Given the description of an element on the screen output the (x, y) to click on. 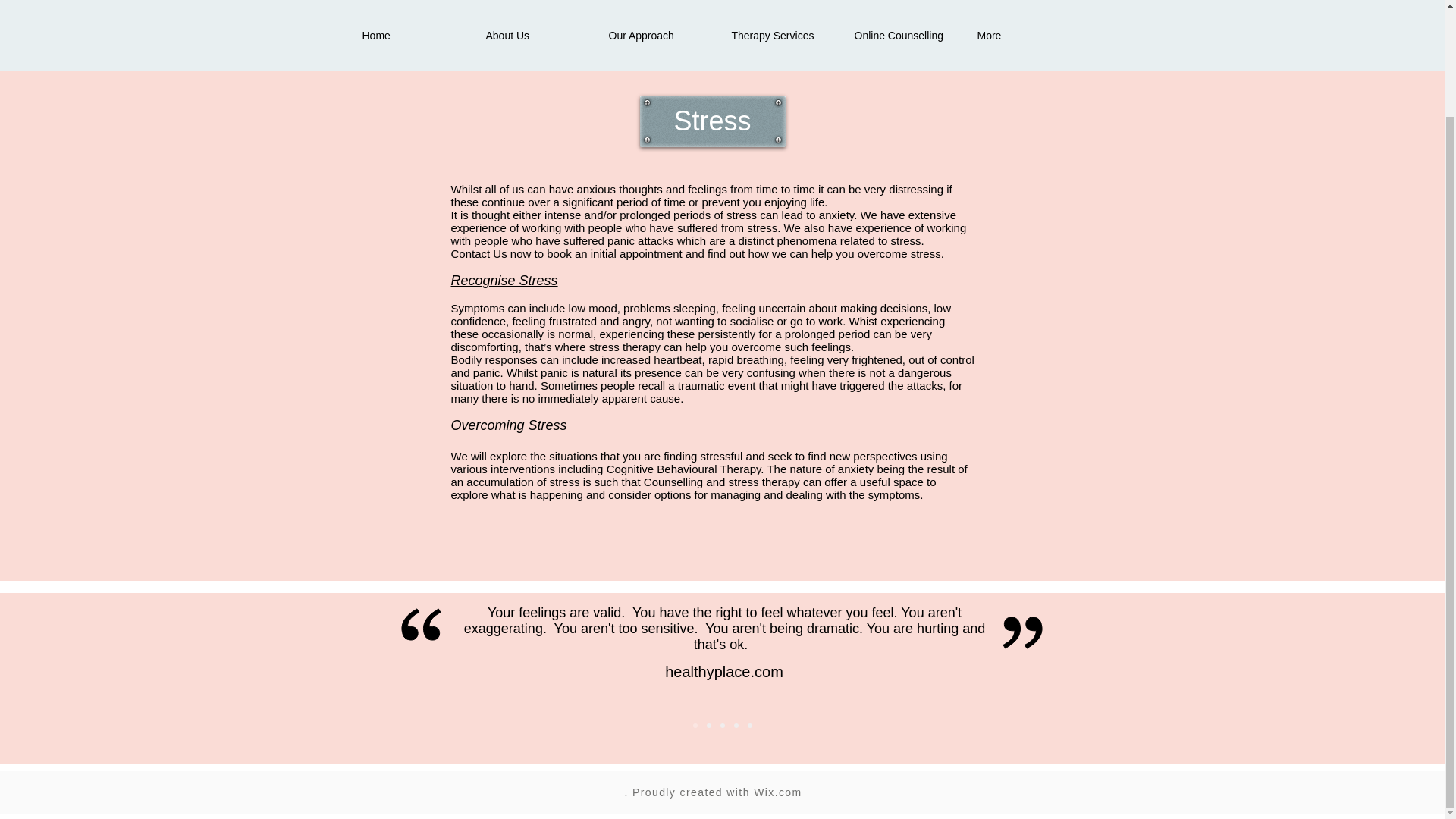
Stress (713, 121)
About Us (535, 35)
Counselling (673, 481)
Cognitive Behavioural Therapy (684, 468)
Wix.com (778, 792)
Therapy Services (781, 35)
Online Counselling (904, 35)
Our Approach (658, 35)
Home (412, 35)
